Given the description of an element on the screen output the (x, y) to click on. 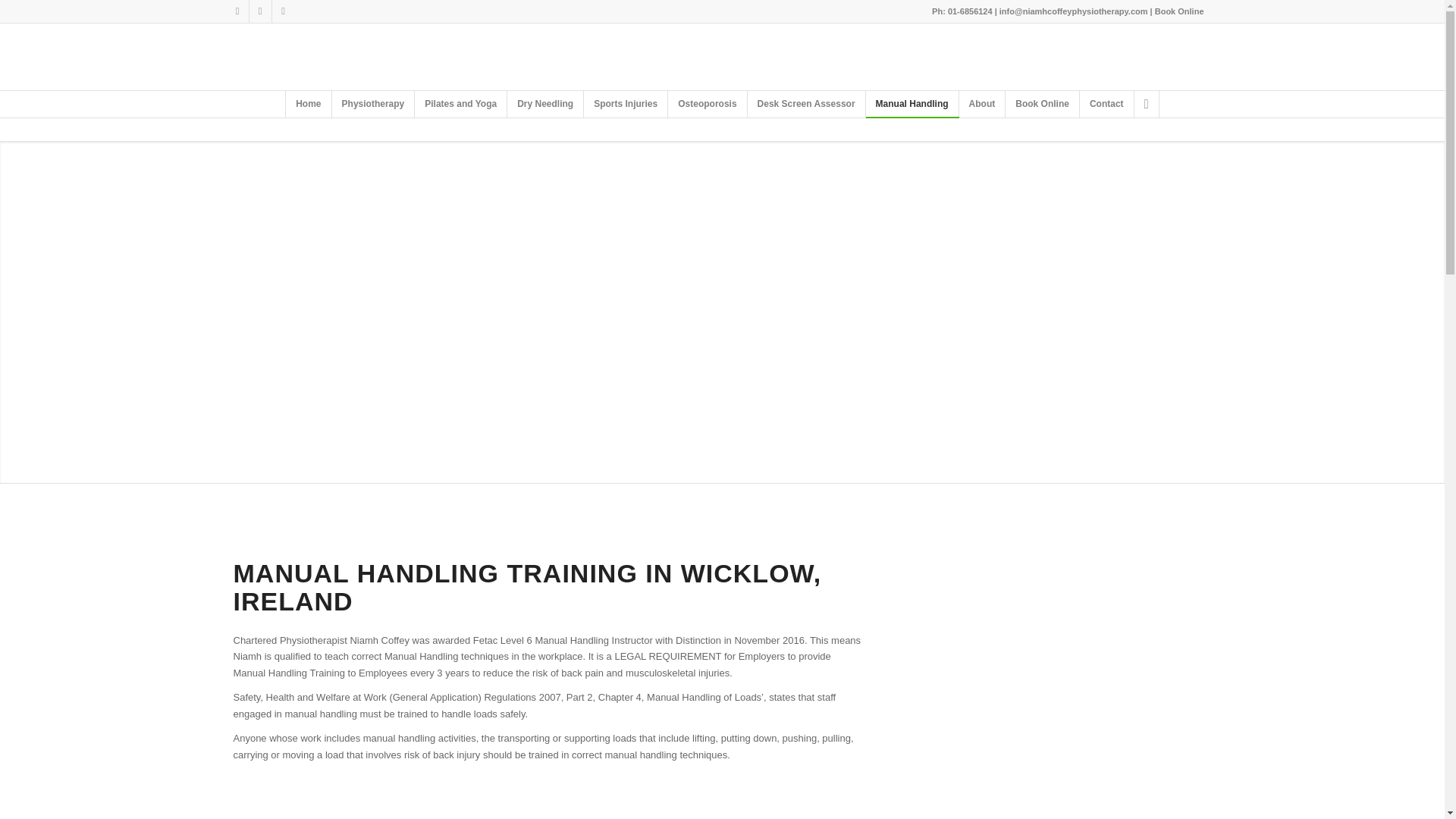
Pilates and Yoga (460, 103)
Osteoporosis (707, 103)
Twitter (282, 11)
About (982, 103)
Facebook (259, 11)
Book Online (1043, 103)
Contact (1107, 103)
Sports Injuries (625, 103)
Desk Screen Assessor (807, 103)
29189703 - hands of warehouse worker lifting box, horizontal (1067, 616)
Dry Needling (544, 103)
Home (308, 103)
Book Online (1179, 10)
Physiotherapy (372, 103)
